Given the description of an element on the screen output the (x, y) to click on. 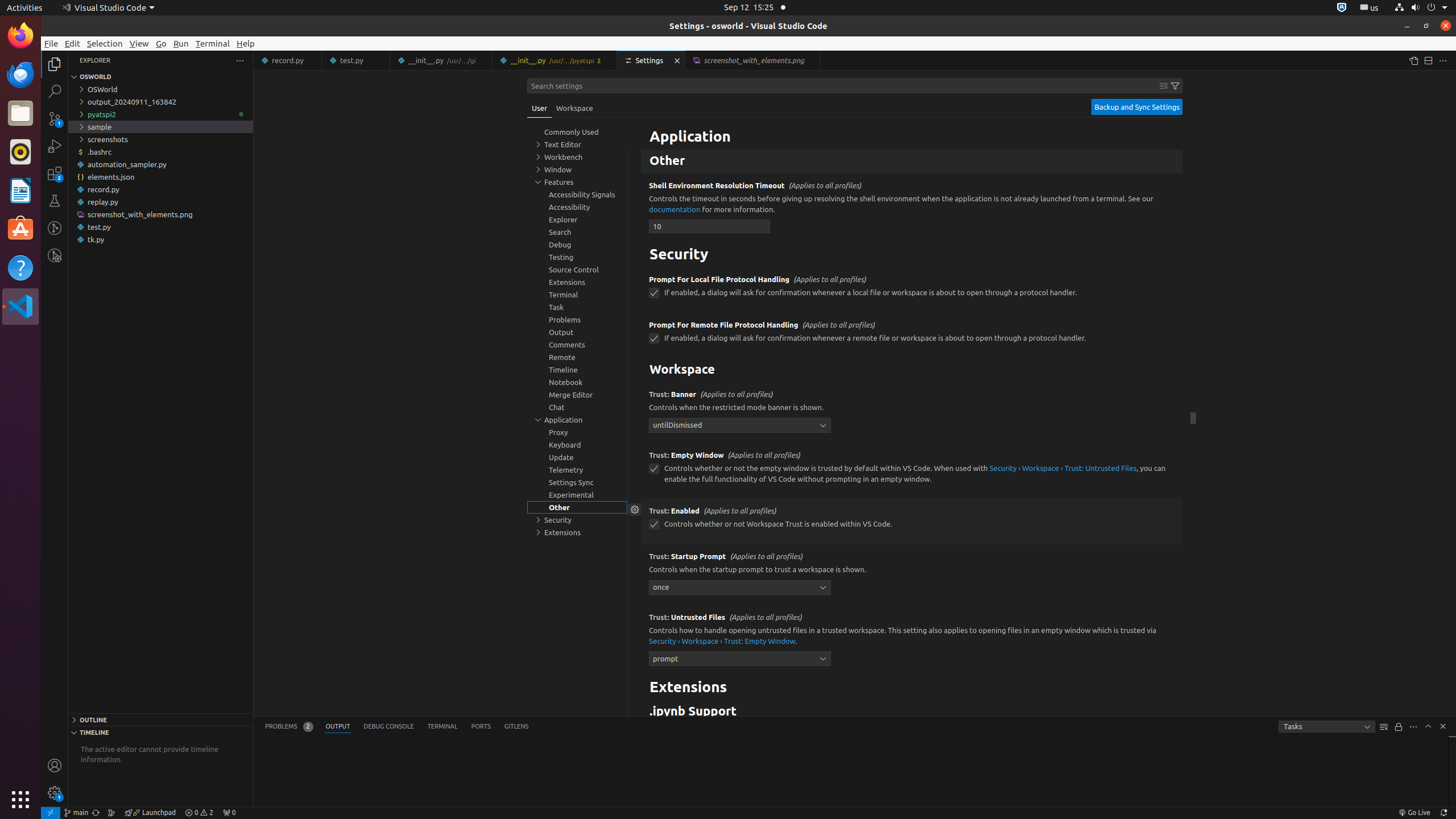
Source Control, group Element type: tree-item (577, 269)
application.experimental.rendererProfiling Element type: check-box (653, 129)
replay.py Element type: tree-item (160, 201)
Update, group Element type: tree-item (577, 457)
Timeline Section Element type: push-button (160, 731)
